Given the description of an element on the screen output the (x, y) to click on. 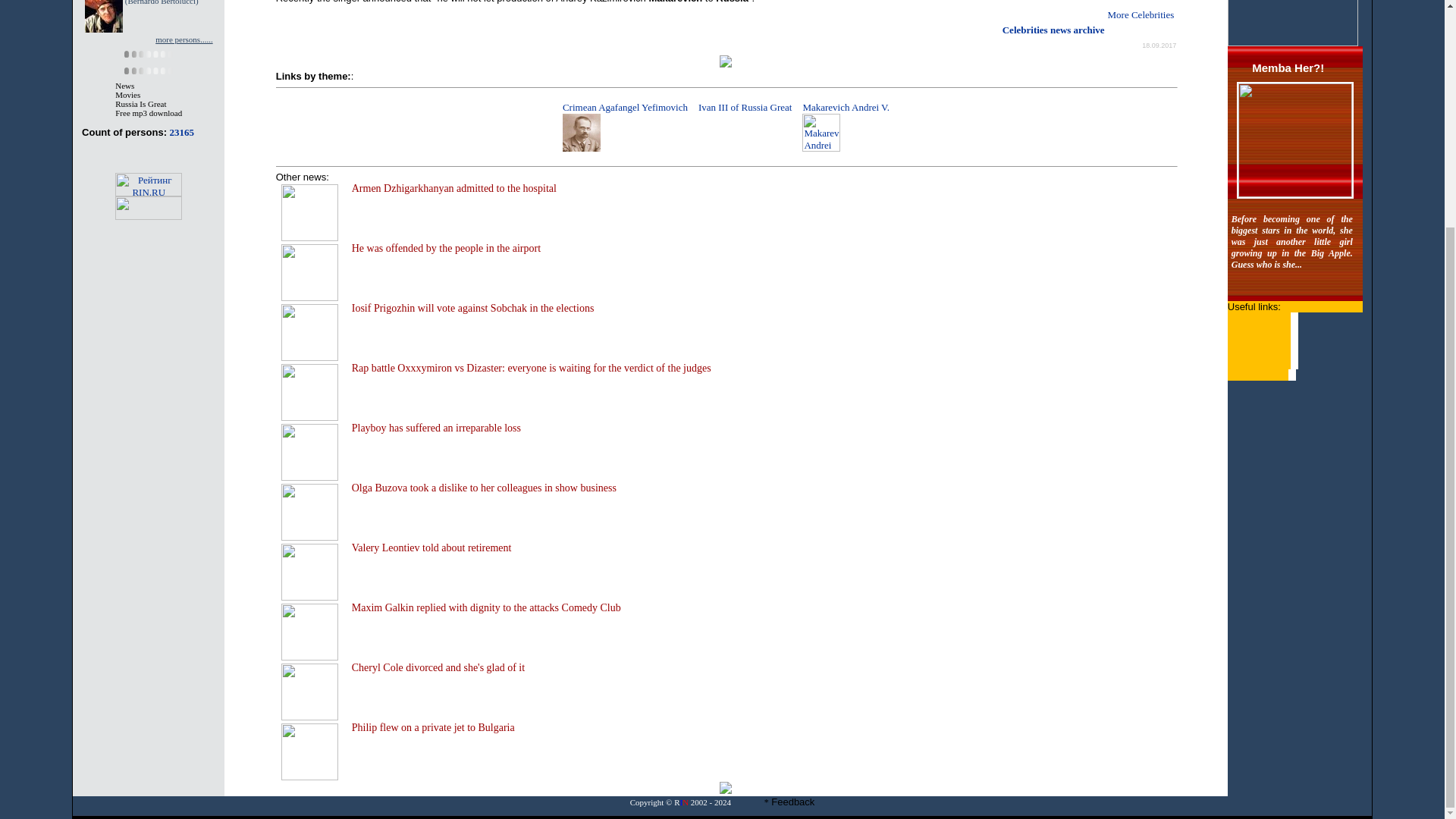
more persons...... (183, 39)
Russia Is Great (140, 103)
Free mp3 download (148, 112)
Makarevich Andrei V. (821, 132)
Movies (127, 94)
Crimean Agafangel Yefimovich (580, 132)
Russain Information Network (687, 801)
News (124, 85)
23165 (182, 132)
